Given the description of an element on the screen output the (x, y) to click on. 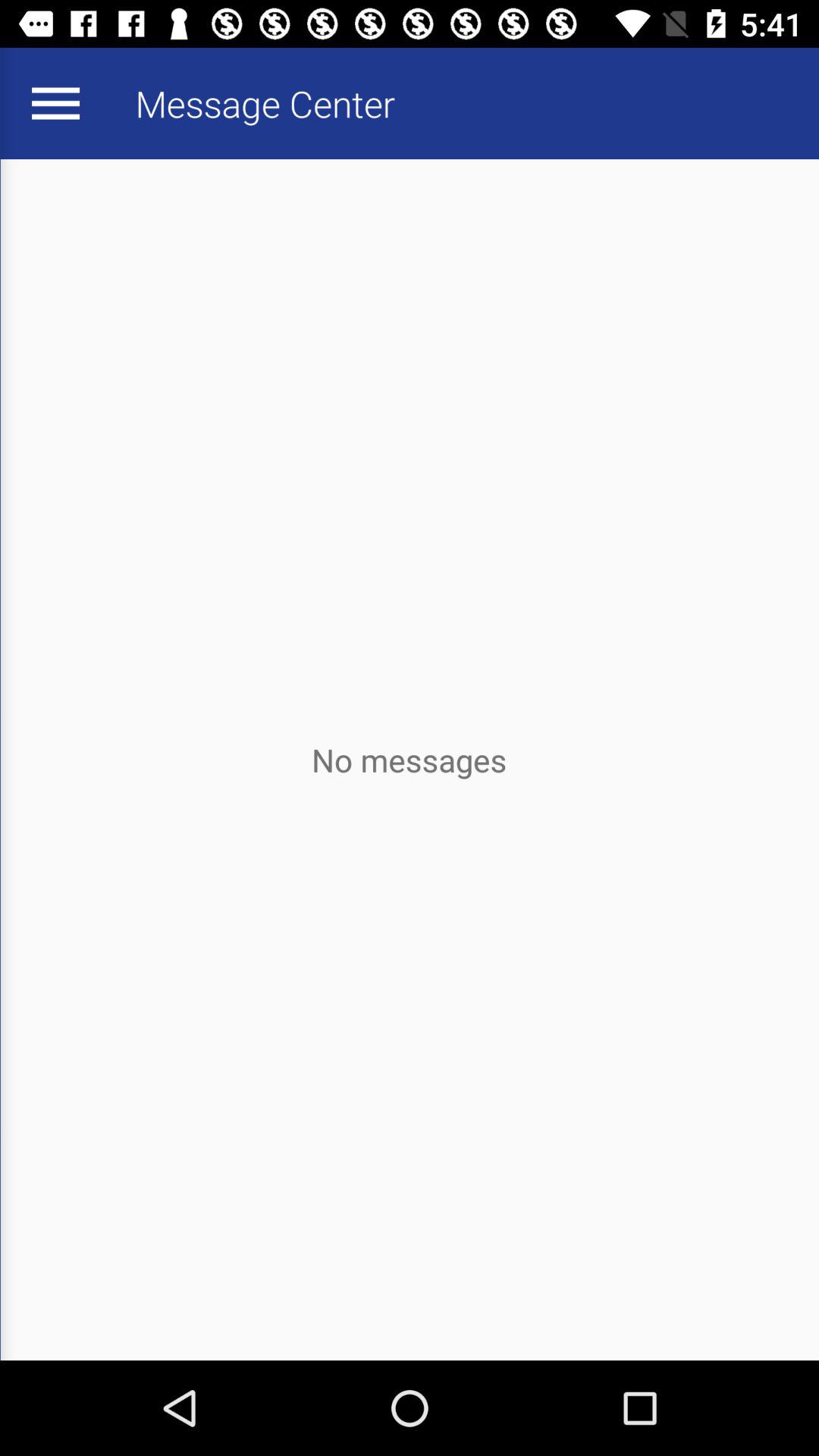
toggle menu (55, 103)
